Given the description of an element on the screen output the (x, y) to click on. 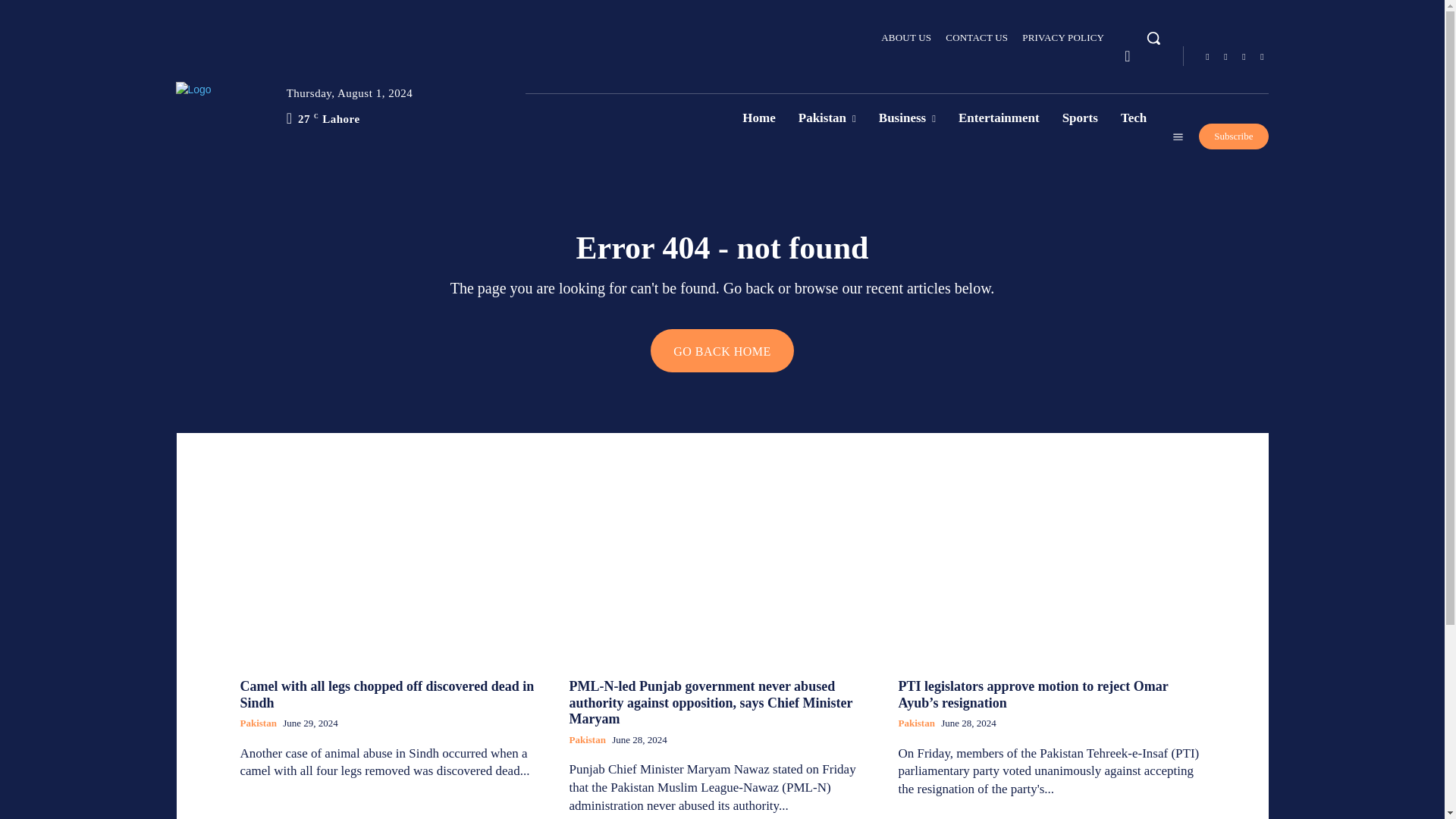
Instagram (1224, 56)
Youtube (1261, 56)
Home (758, 118)
ABOUT US (906, 37)
PRIVACY POLICY (1062, 37)
Facebook (1206, 56)
Twitter (1243, 56)
CONTACT US (976, 37)
